Given the description of an element on the screen output the (x, y) to click on. 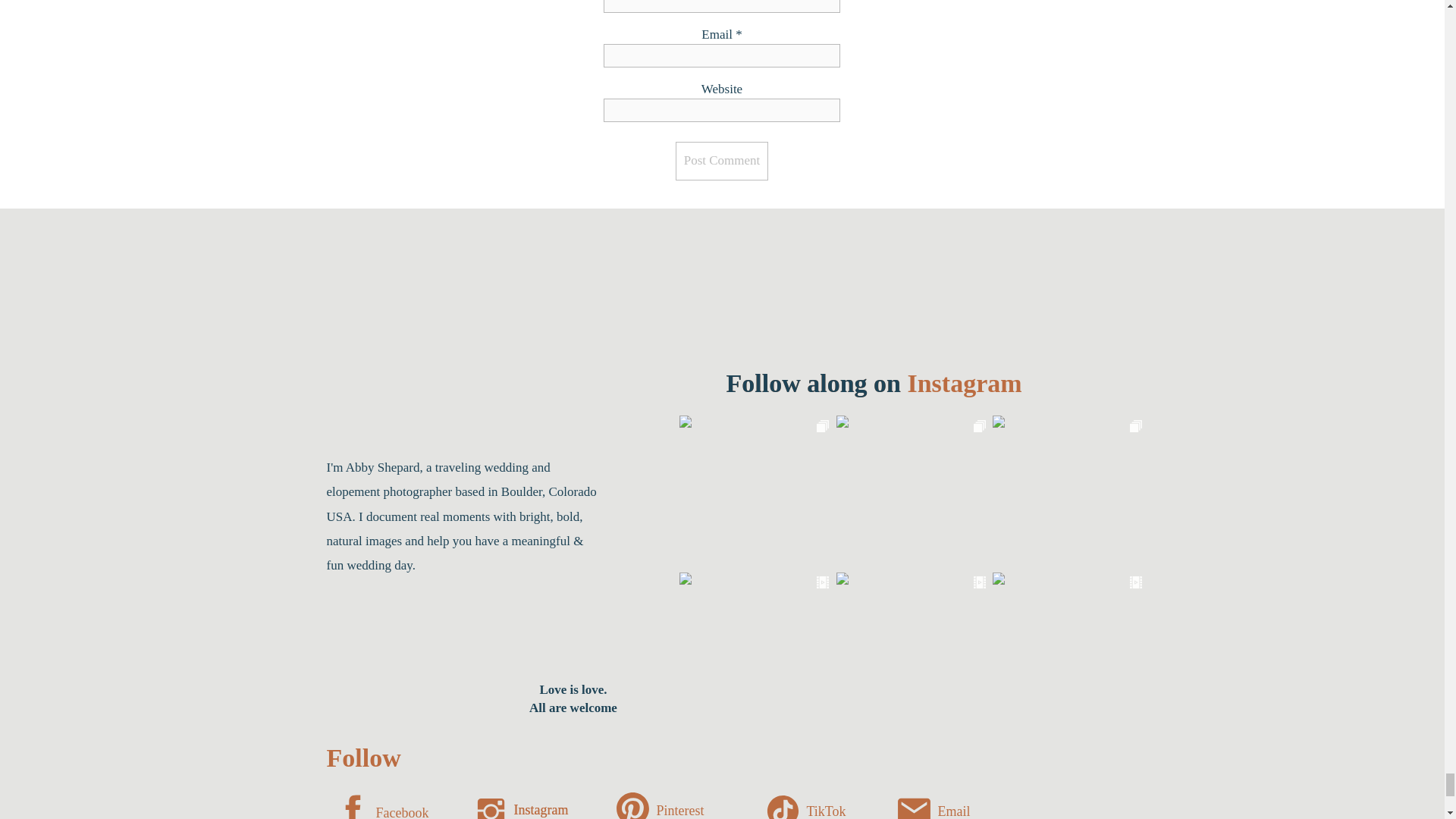
Post Comment (721, 160)
